Given the description of an element on the screen output the (x, y) to click on. 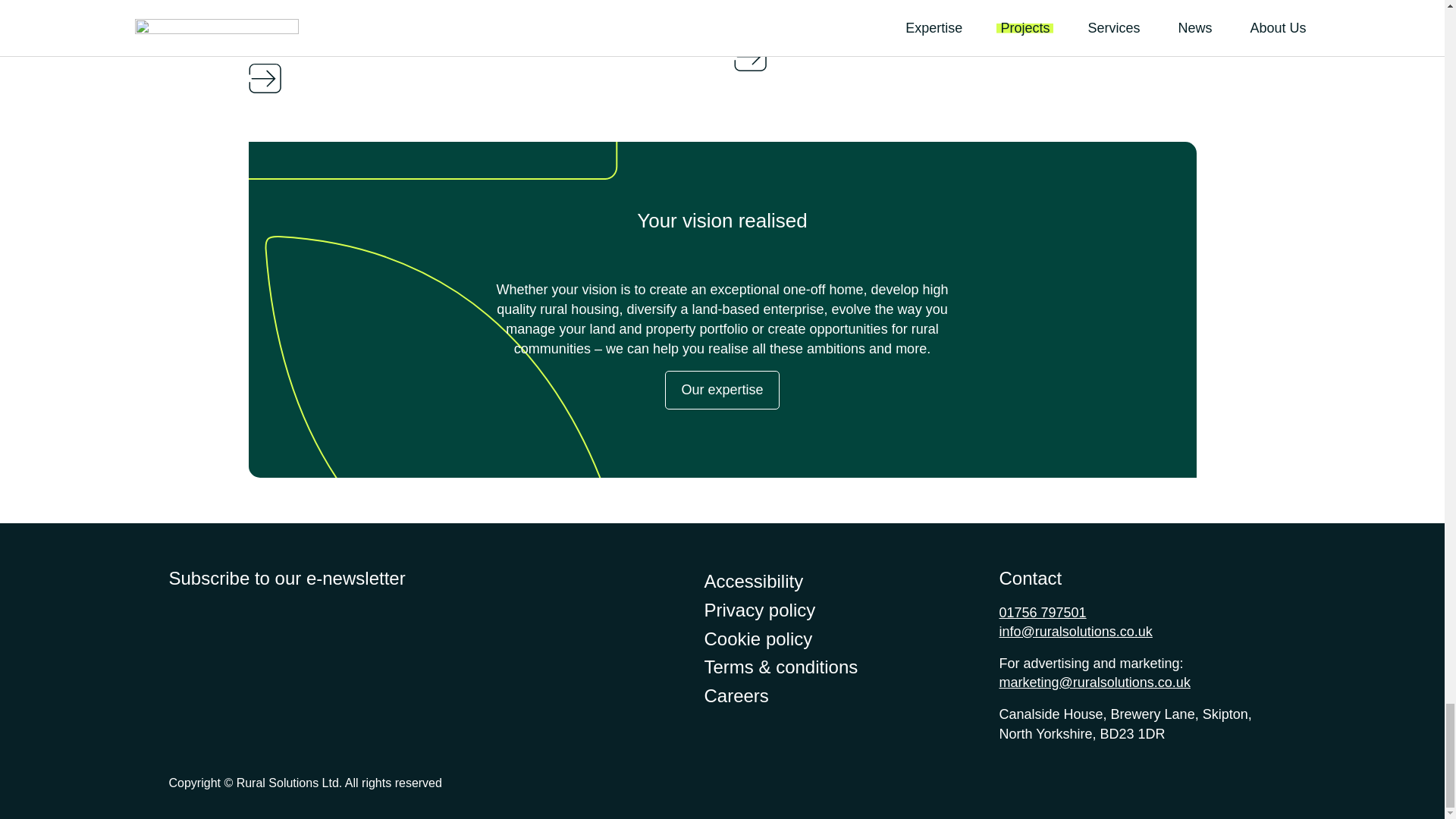
Our expertise (721, 390)
Our expertise (721, 383)
